Given the description of an element on the screen output the (x, y) to click on. 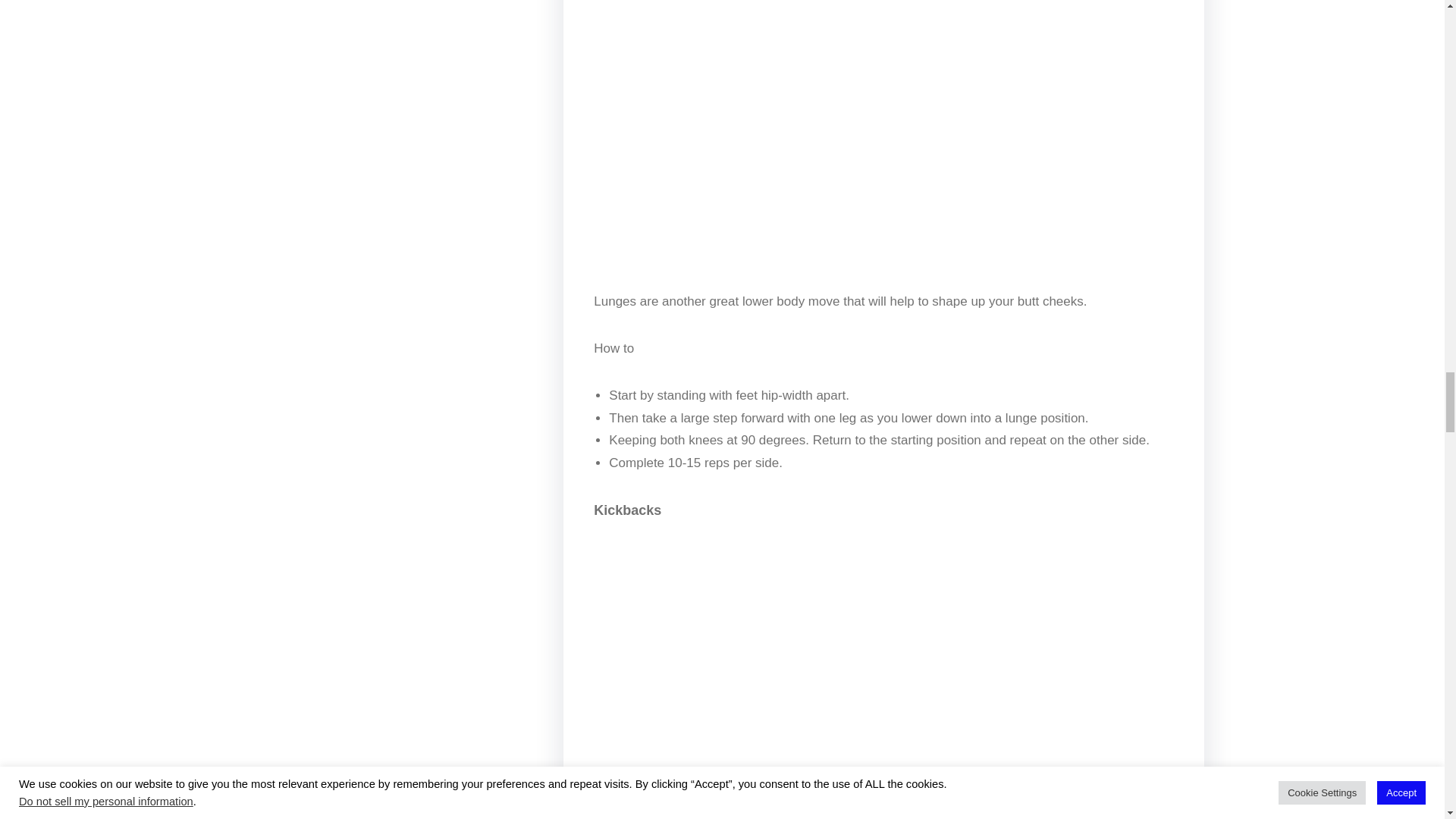
Lunges (882, 133)
Kickbacks (882, 683)
